Given the description of an element on the screen output the (x, y) to click on. 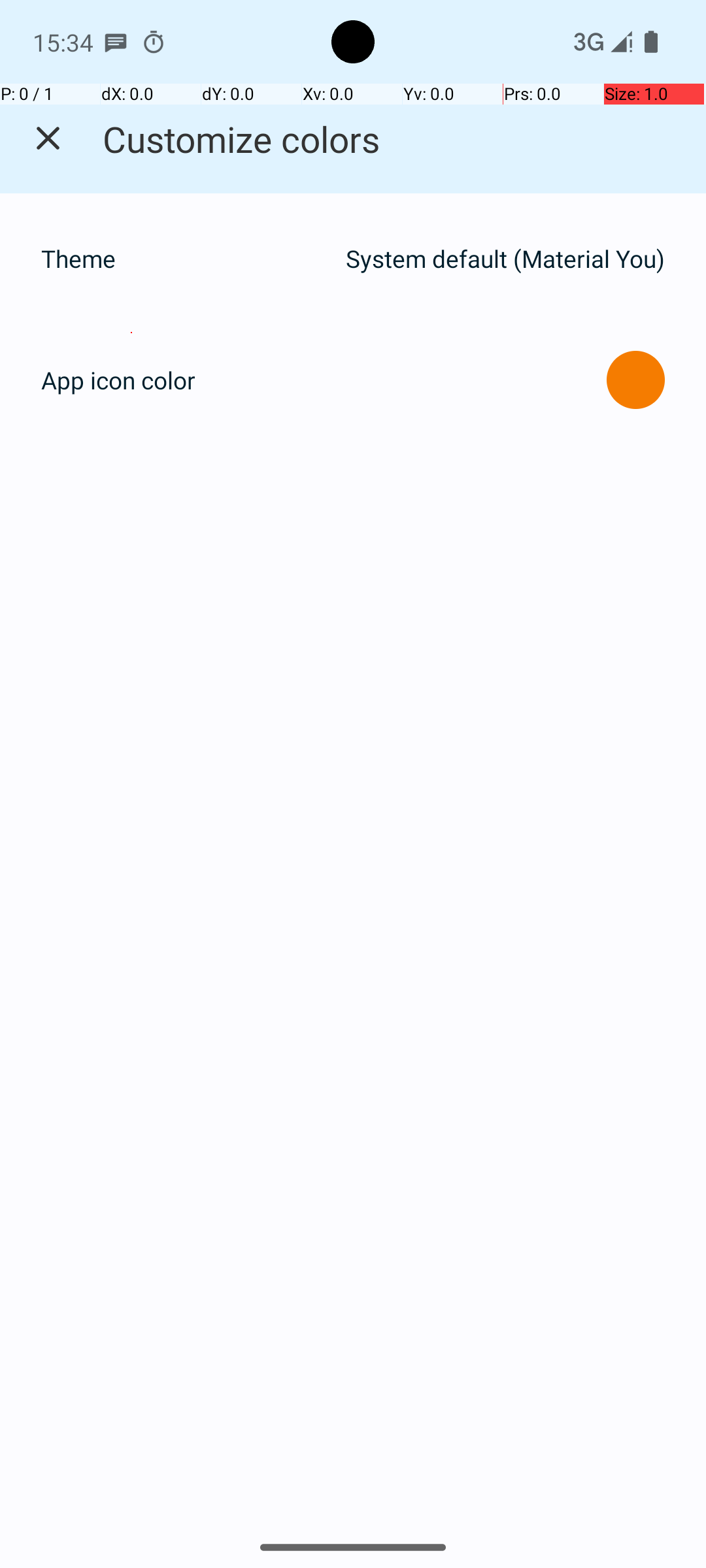
System default (Material You) Element type: android.widget.TextView (504, 258)
App icon color Element type: android.widget.TextView (118, 379)
